Given the description of an element on the screen output the (x, y) to click on. 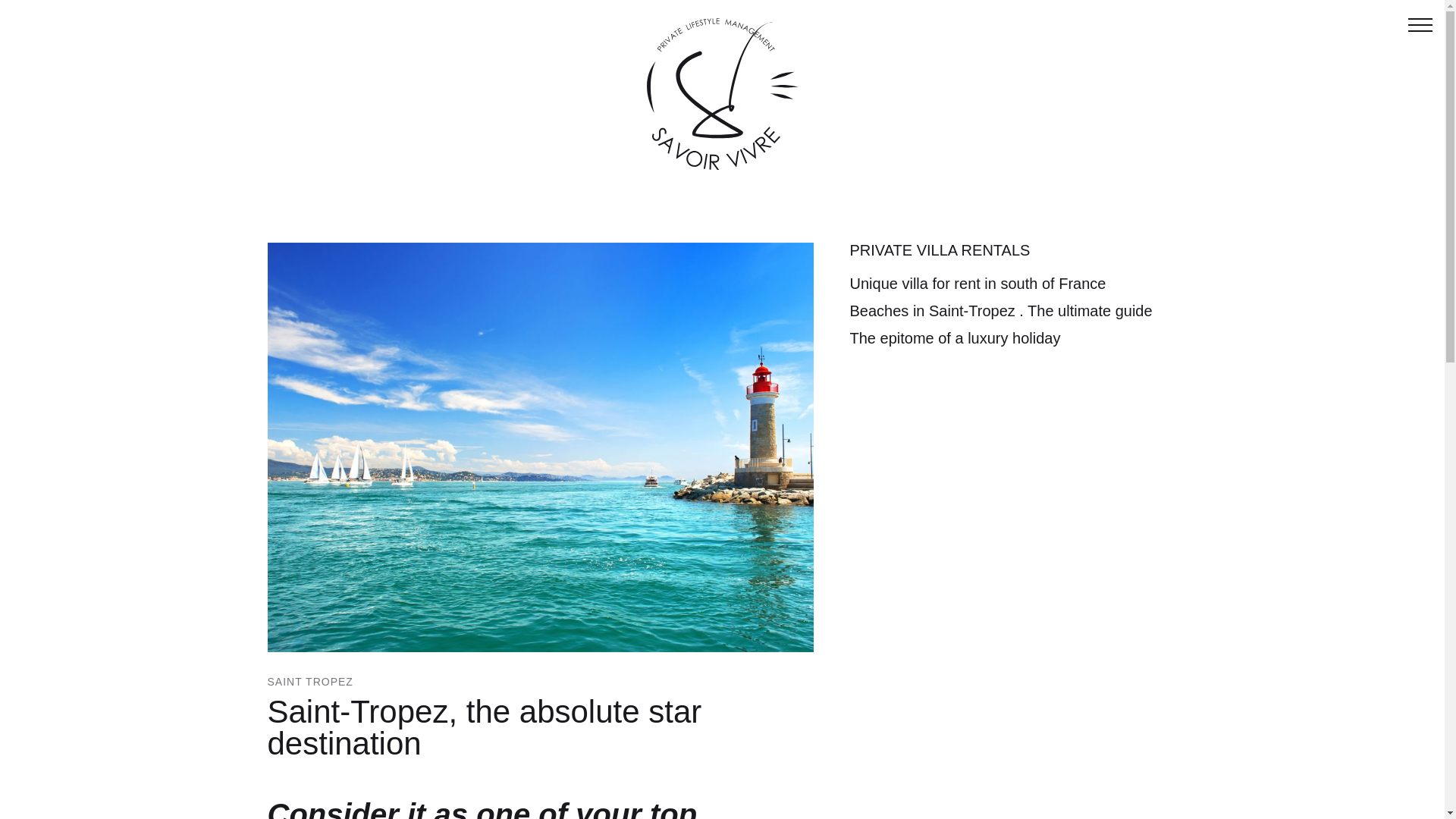
Toggle Menu (1419, 24)
Unique villa for rent in south of France (976, 283)
Savoir Vivre (721, 93)
The epitome of a luxury holiday (953, 338)
Beaches in Saint-Tropez . The ultimate guide (999, 310)
